Given the description of an element on the screen output the (x, y) to click on. 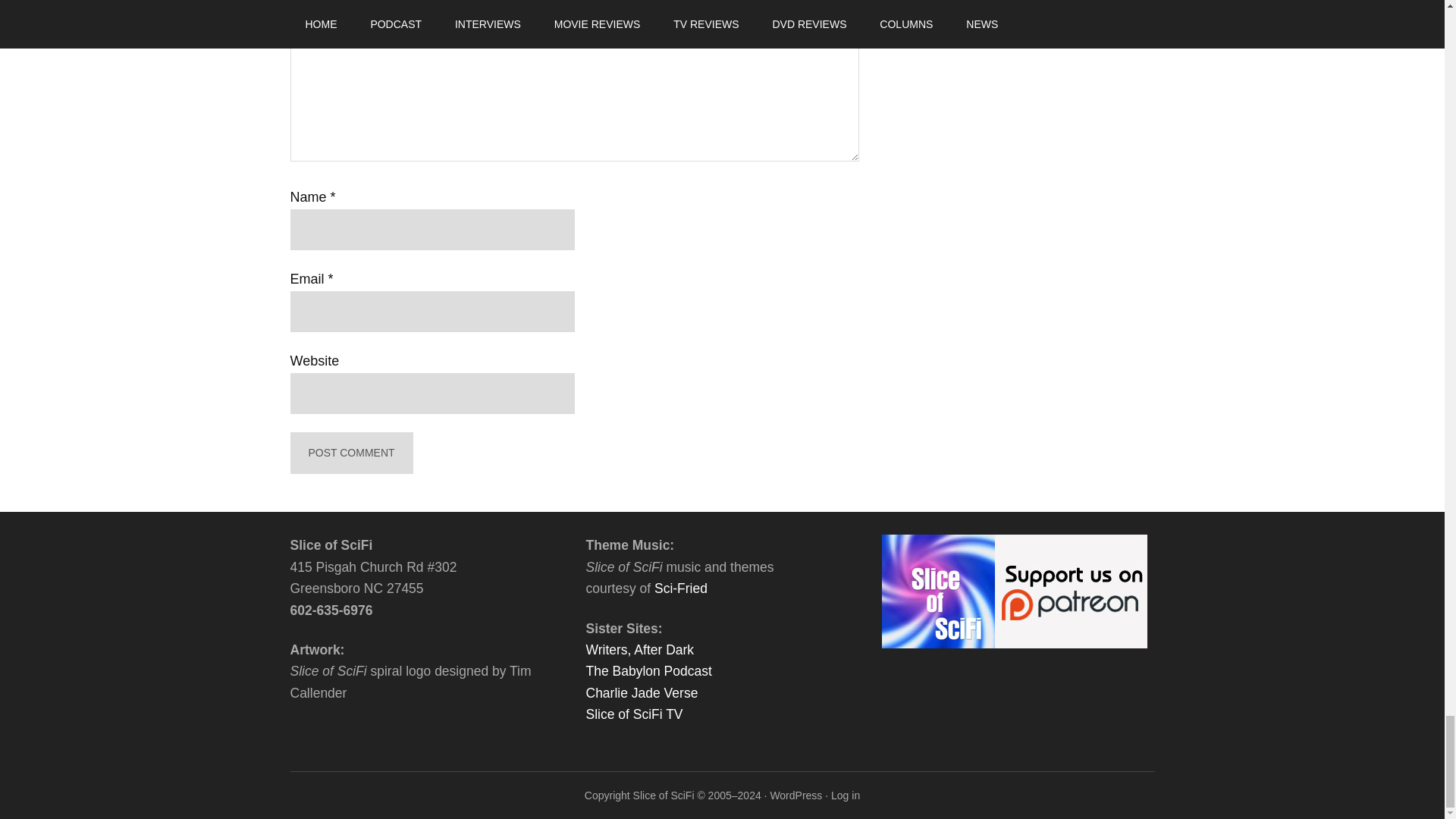
Post Comment (350, 453)
